Given the description of an element on the screen output the (x, y) to click on. 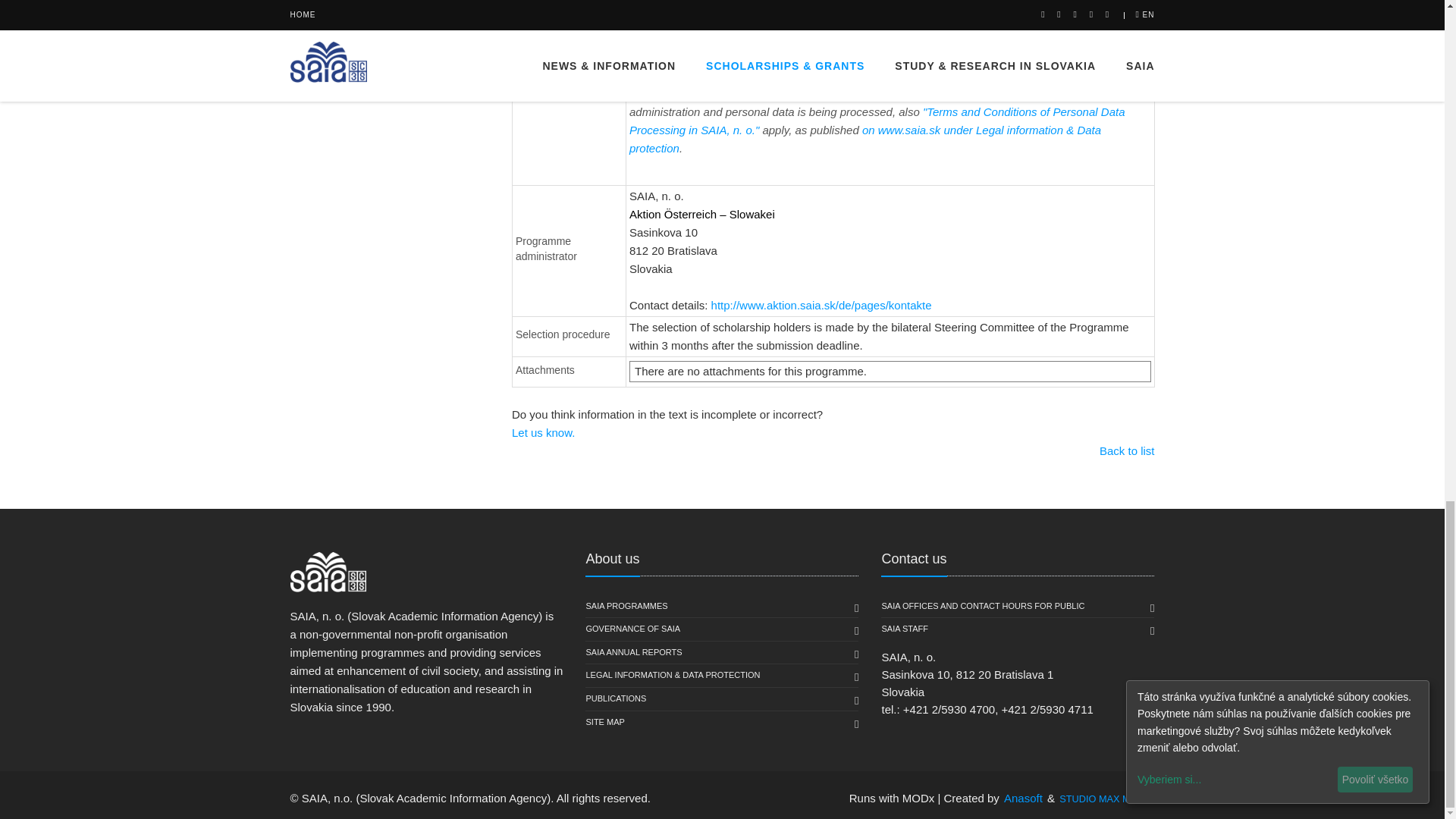
SAIA PROGRAMMES (625, 606)
grants.saia.sk (1015, 12)
GOVERNANCE OF SAIA (632, 629)
PUBLICATIONS (615, 698)
SITE MAP (604, 722)
SAIA ANNUAL REPORTS (633, 652)
SAIA OFFICES AND CONTACT HOURS FOR PUBLIC (982, 606)
Let us know. (833, 433)
